Given the description of an element on the screen output the (x, y) to click on. 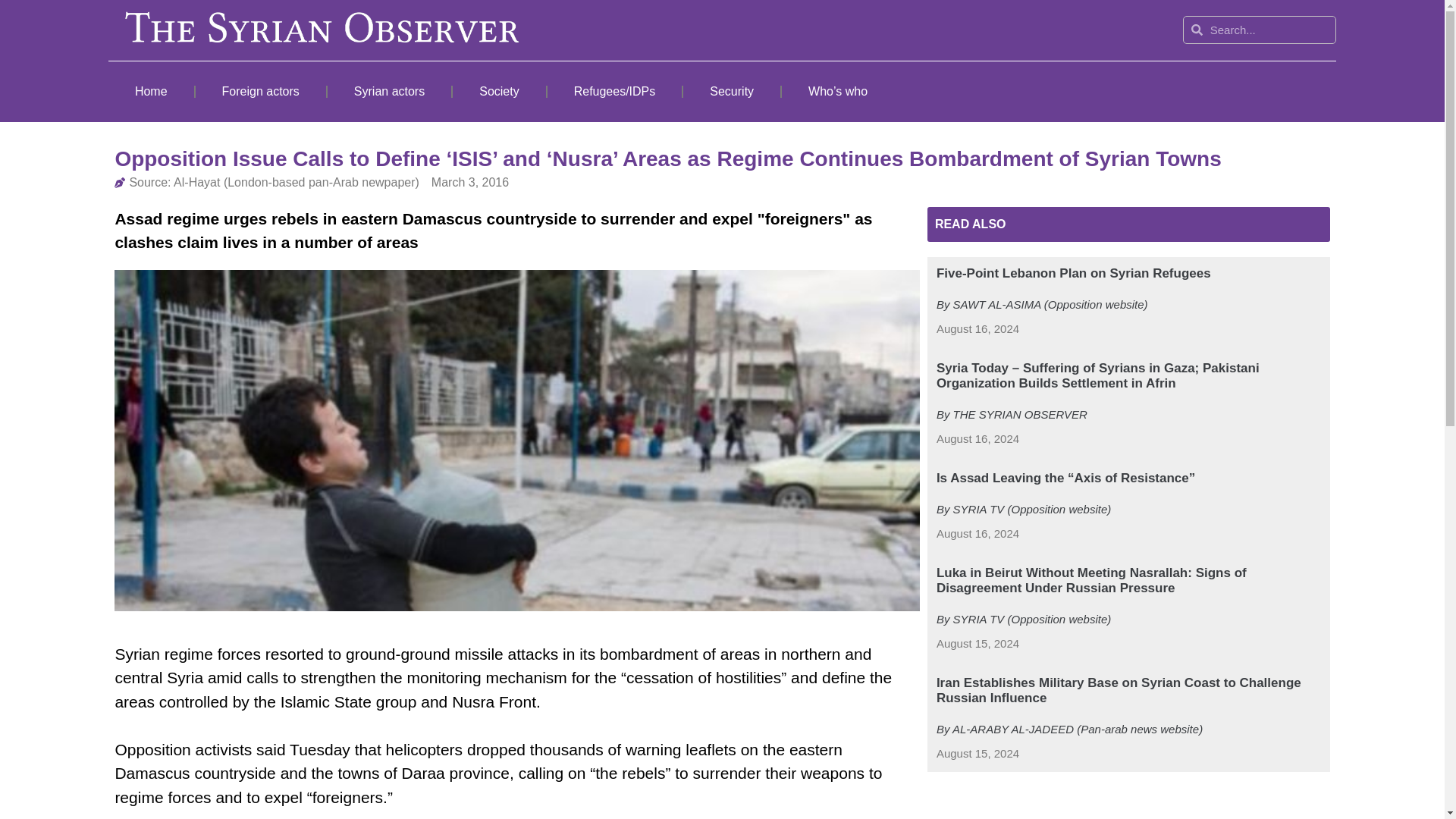
August 16, 2024 (977, 329)
August 15, 2024 (977, 753)
Home (150, 91)
August 16, 2024 (977, 533)
August 16, 2024 (977, 438)
Foreign actors (260, 91)
August 15, 2024 (977, 643)
Society (498, 91)
